Given the description of an element on the screen output the (x, y) to click on. 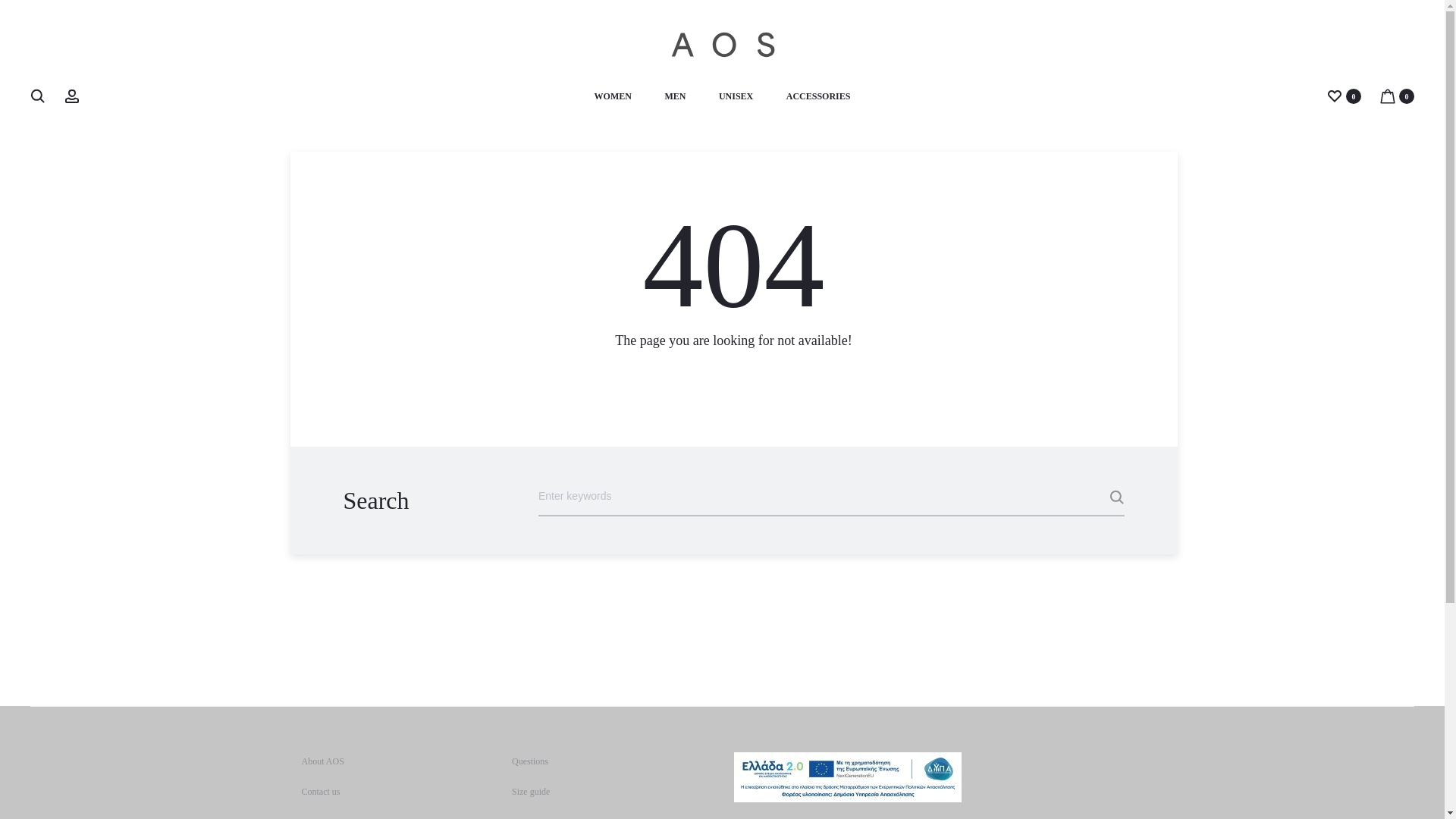
ACCESSORIES (818, 96)
Search (1086, 497)
0 (1387, 95)
Search (37, 95)
Account (72, 95)
MEN (674, 96)
UNISEX (735, 96)
About AOS (322, 760)
WOMEN (612, 96)
0 (1334, 95)
